Given the description of an element on the screen output the (x, y) to click on. 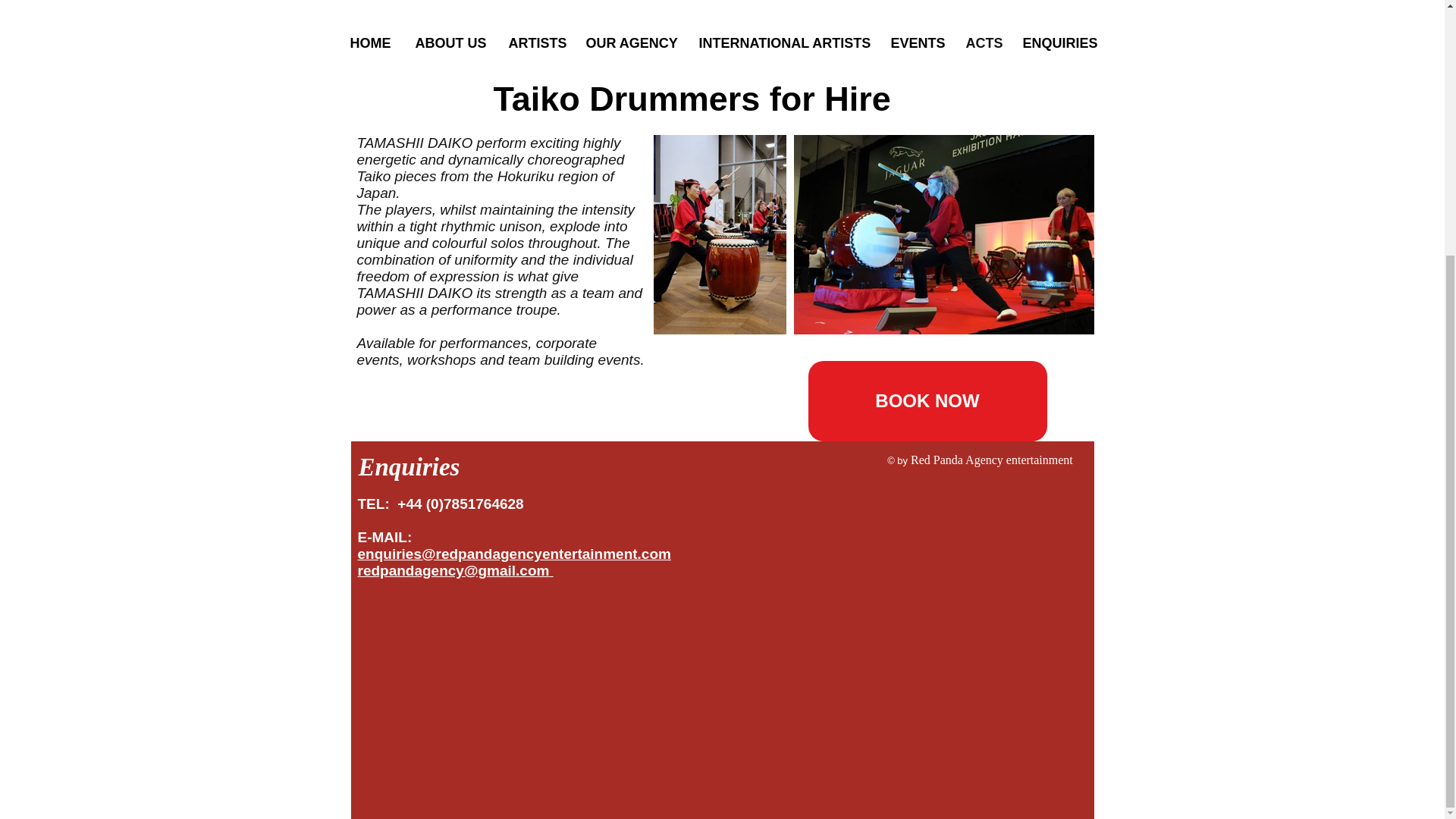
HOME (370, 43)
ARTISTS (534, 43)
ABOUT US (449, 43)
